Given the description of an element on the screen output the (x, y) to click on. 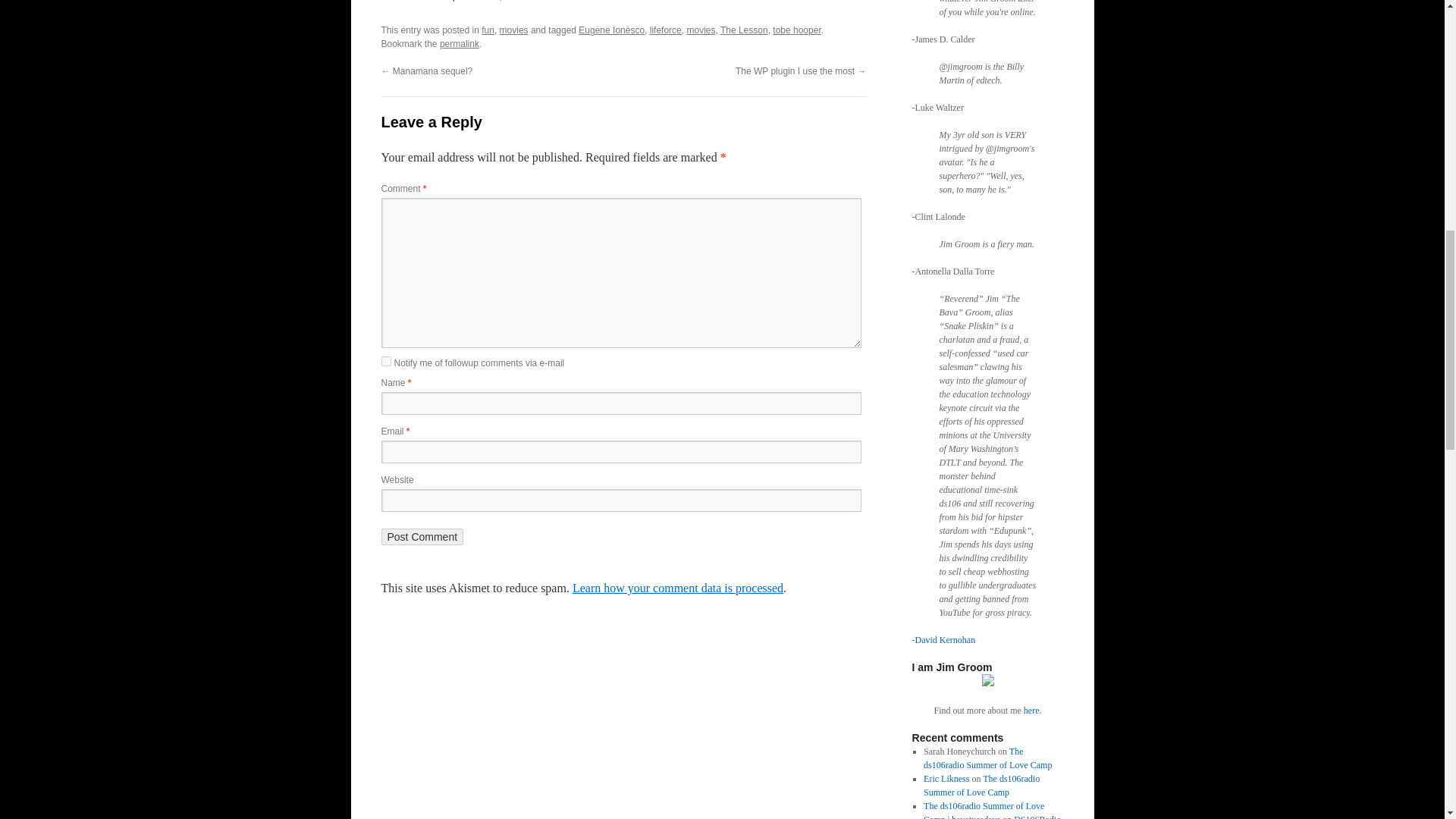
tobe hooper (797, 30)
Post Comment (421, 536)
lifeforce (665, 30)
fun (488, 30)
movies (513, 30)
Post Comment (421, 536)
subscribe (385, 361)
movies (699, 30)
Learn how your comment data is processed (677, 587)
The Lesson (744, 30)
